Given the description of an element on the screen output the (x, y) to click on. 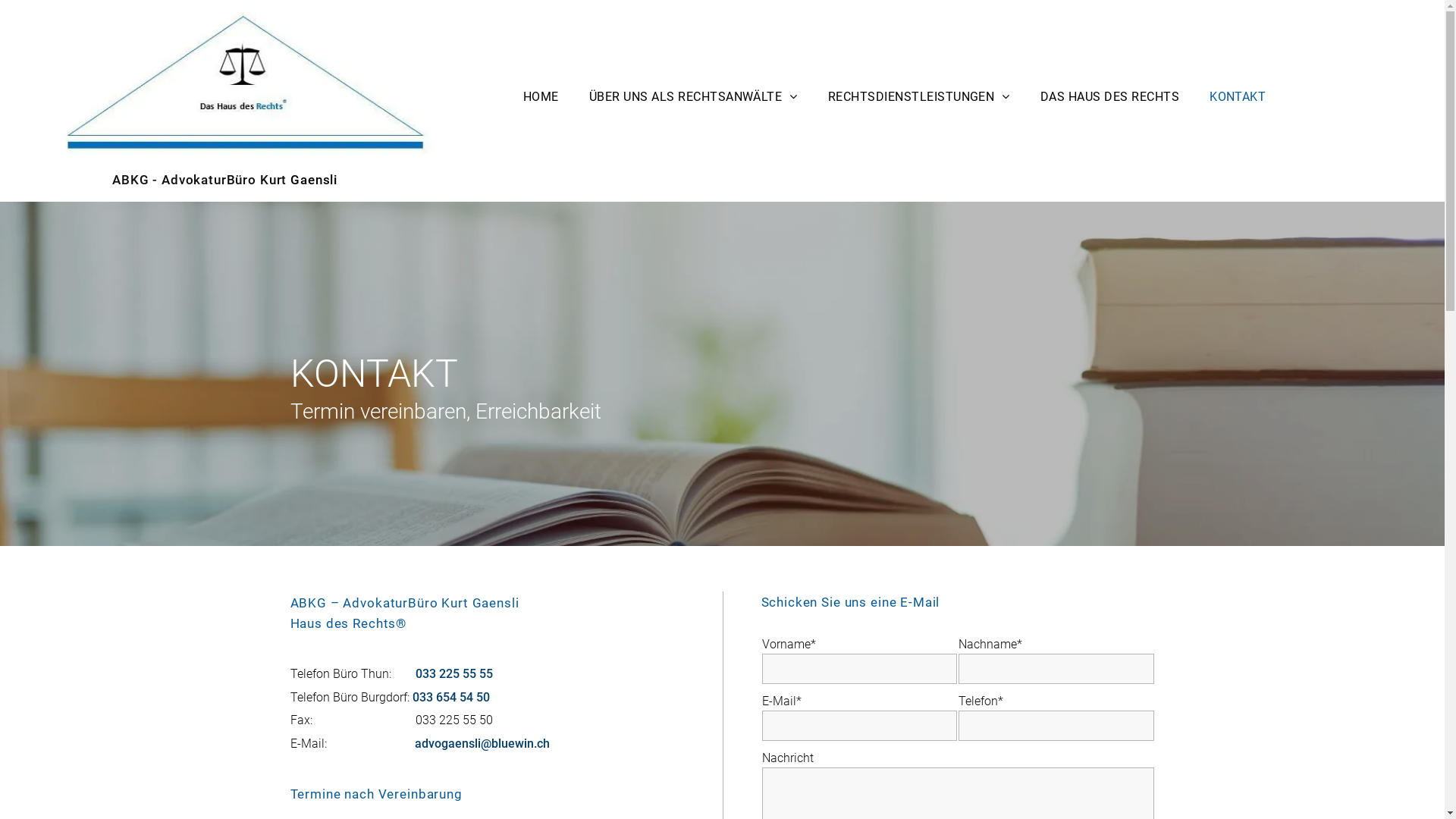
advogaensli@bluewin.ch Element type: text (481, 743)
033 654 54 50 Element type: text (450, 697)
Gaensli Element type: text (313, 179)
DAS HAUS DES RECHTS Element type: text (1109, 96)
033 225 55 55 Element type: text (453, 673)
HOME Element type: text (540, 96)
KONTAKT Element type: text (1237, 96)
RECHTSDIENSTLEISTUNGEN Element type: text (918, 96)
